Given the description of an element on the screen output the (x, y) to click on. 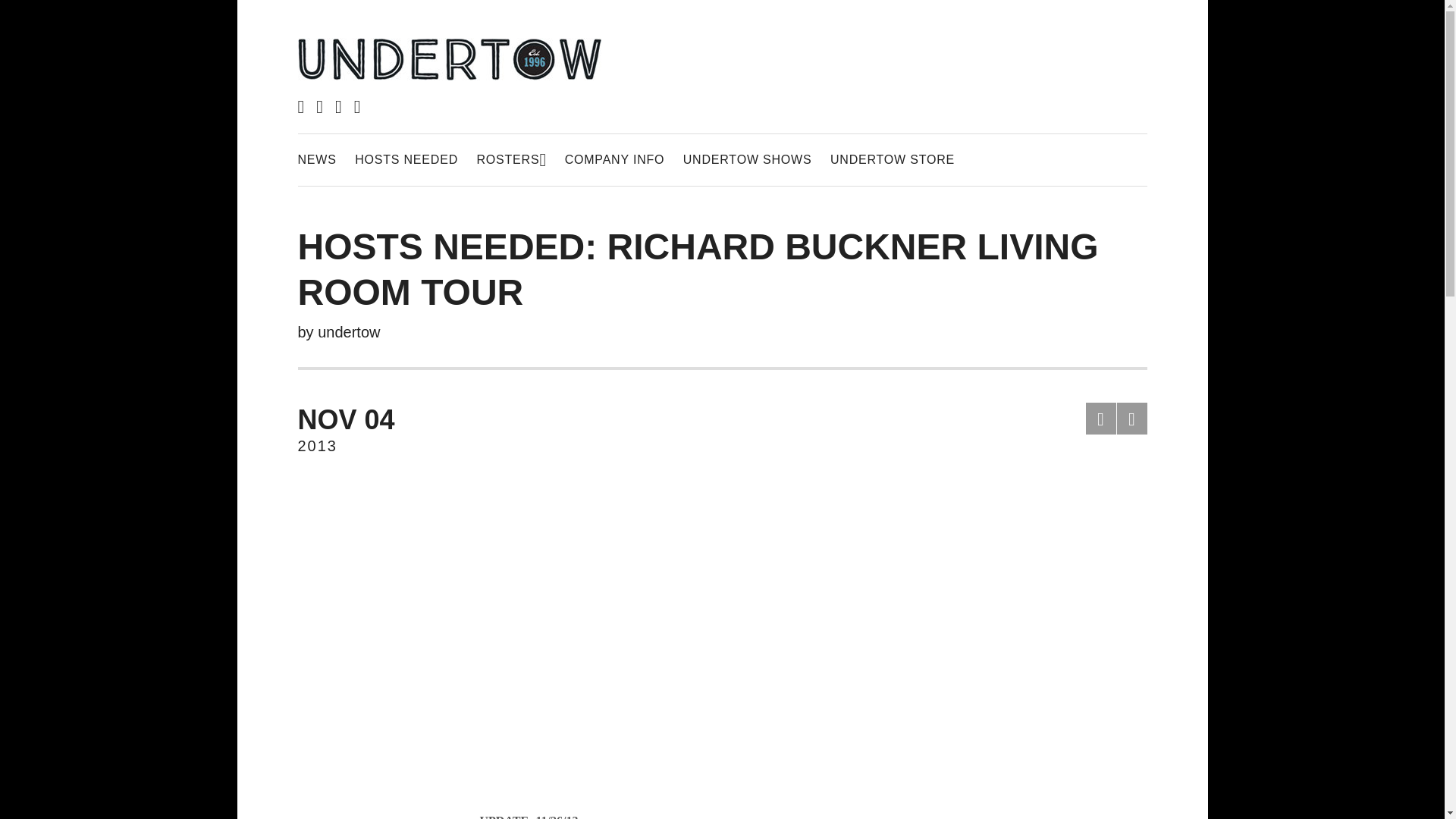
Next: Califone Joins Undertow! (1131, 418)
HOSTS NEEDED (369, 429)
undertow (406, 159)
NEWS (348, 331)
Previous: Simon Joyner Living Room Tour (316, 159)
UNDERTOW STORE (1101, 418)
UNDERTOW (892, 159)
UNDERTOW SHOWS (511, 159)
